Given the description of an element on the screen output the (x, y) to click on. 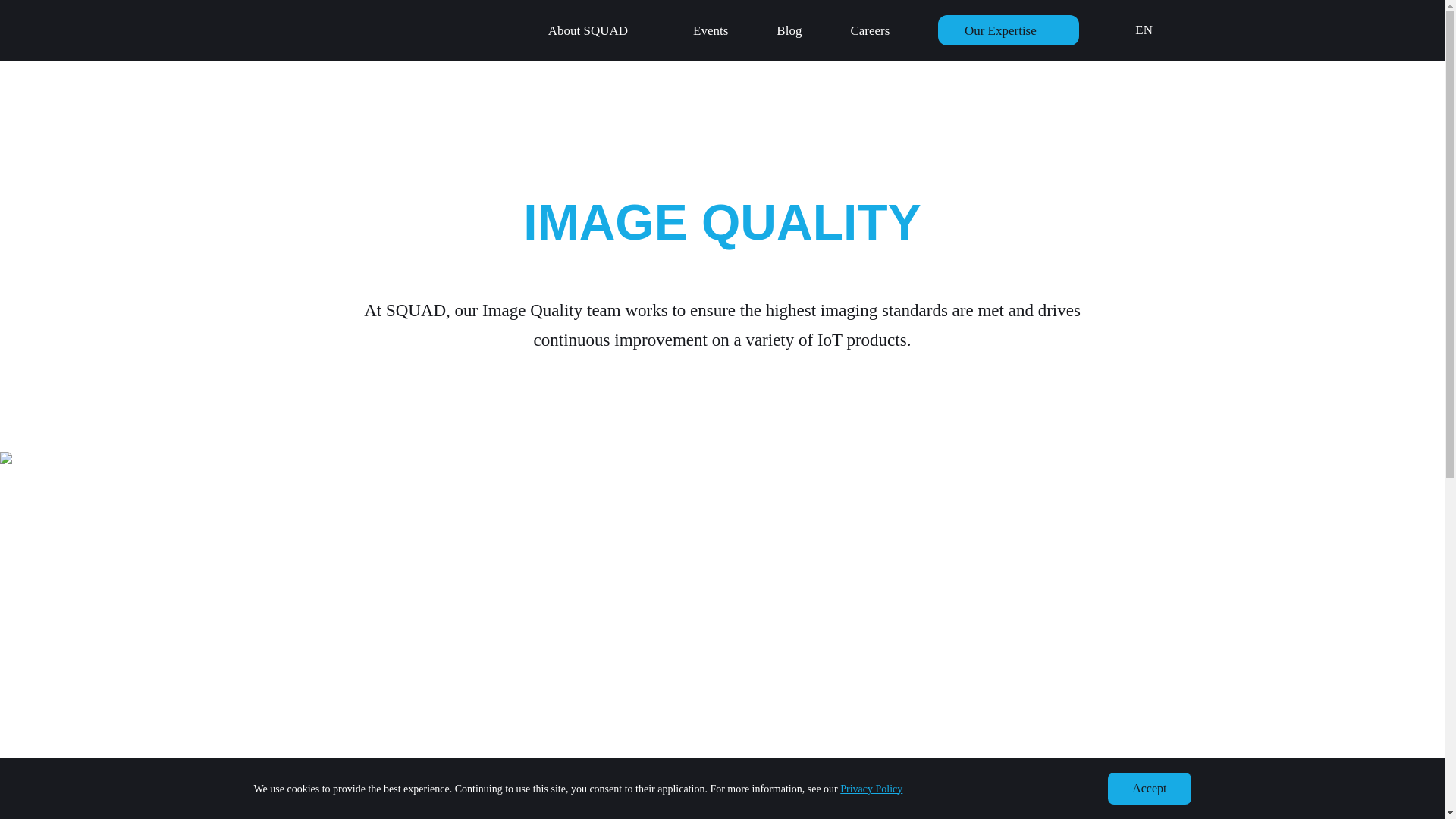
Our Expertise (999, 30)
Careers (869, 30)
About SQUAD (587, 30)
Blog (789, 30)
Events (710, 30)
